Given the description of an element on the screen output the (x, y) to click on. 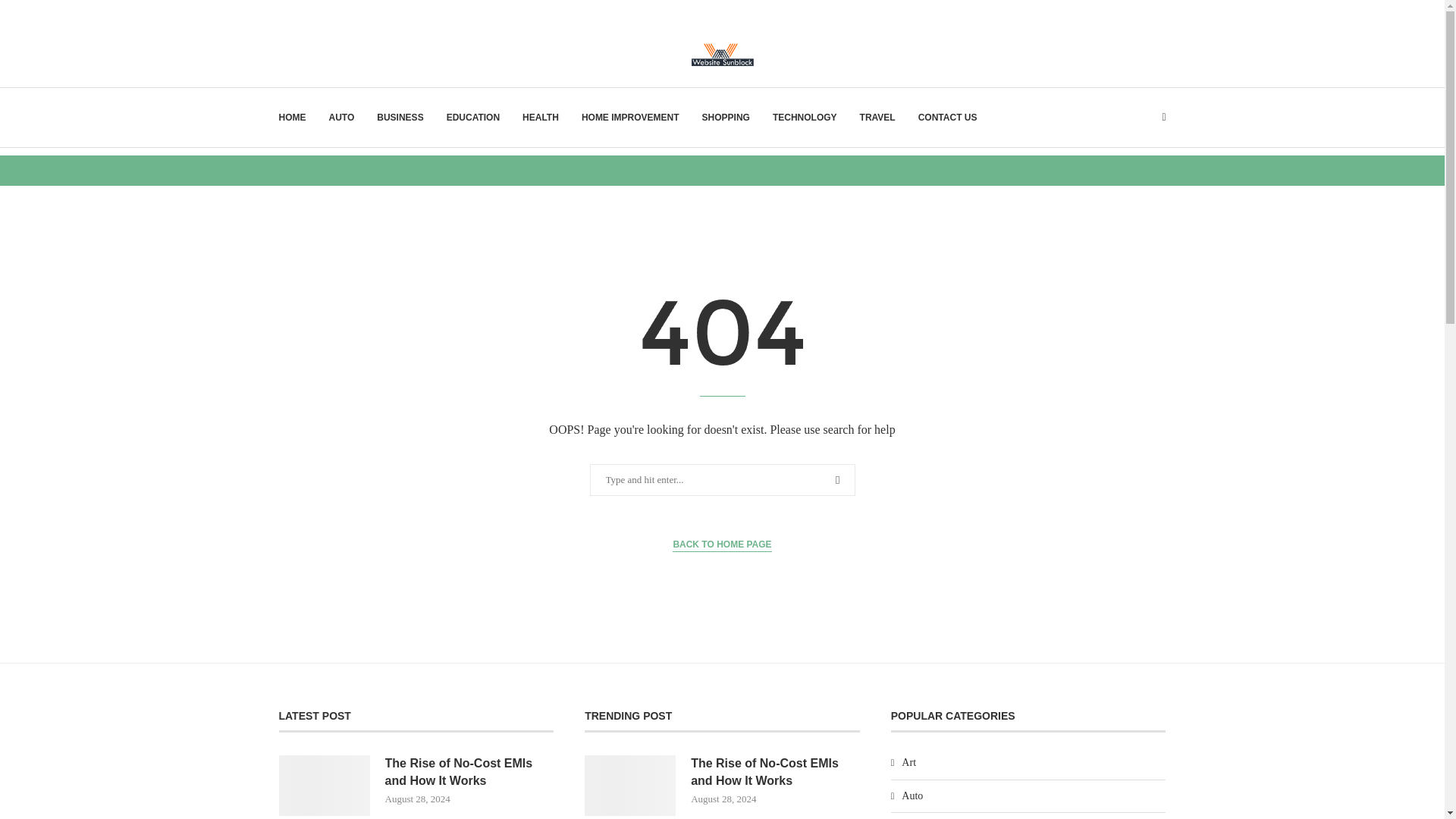
TECHNOLOGY (805, 117)
The Rise of No-Cost EMIs and How It Works (324, 785)
CONTACT US (947, 117)
The Rise of No-Cost EMIs and How It Works (469, 772)
The Rise of No-Cost EMIs and How It Works (630, 785)
SHOPPING (725, 117)
The Rise of No-Cost EMIs and How It Works (775, 772)
EDUCATION (472, 117)
BUSINESS (400, 117)
HOME IMPROVEMENT (629, 117)
